Given the description of an element on the screen output the (x, y) to click on. 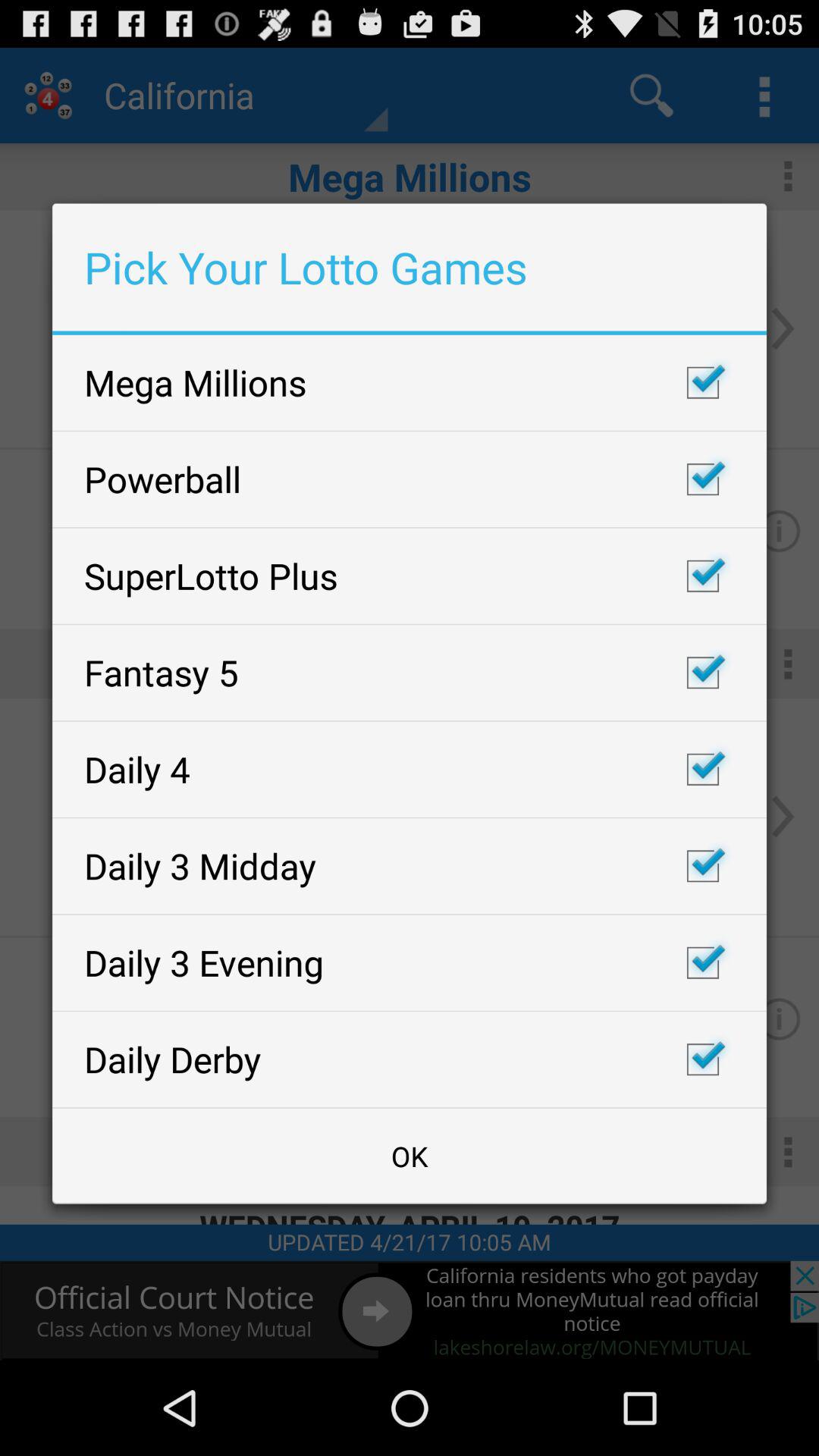
click item below the daily derby checkbox (409, 1156)
